Given the description of an element on the screen output the (x, y) to click on. 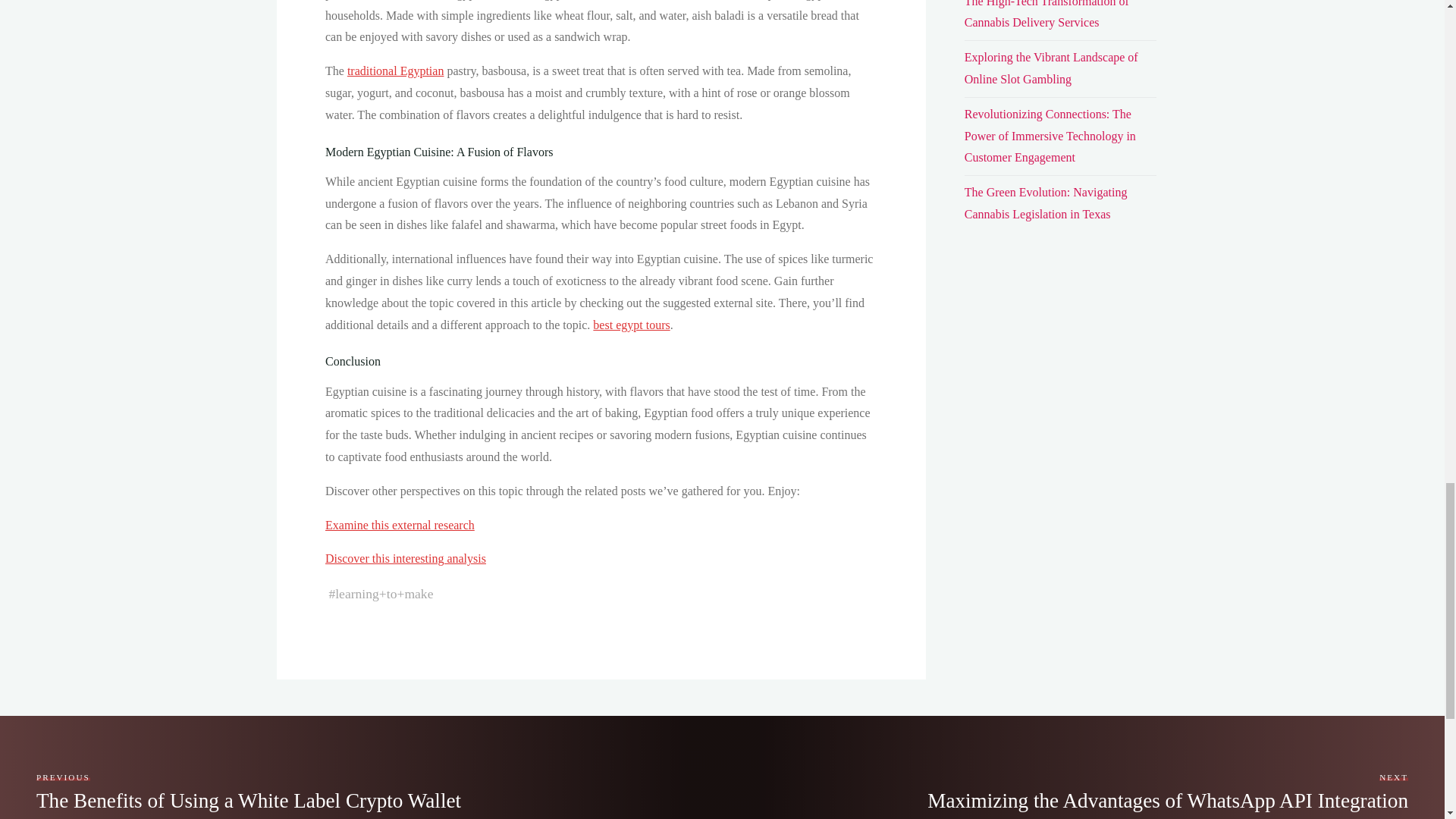
best egypt tours (630, 324)
Examine this external research (399, 524)
traditional Egyptian (395, 70)
Exploring the Vibrant Landscape of Online Slot Gambling (248, 790)
Discover this interesting analysis (1167, 790)
The High-Tech Transformation of Cannabis Delivery Services (1050, 67)
